Given the description of an element on the screen output the (x, y) to click on. 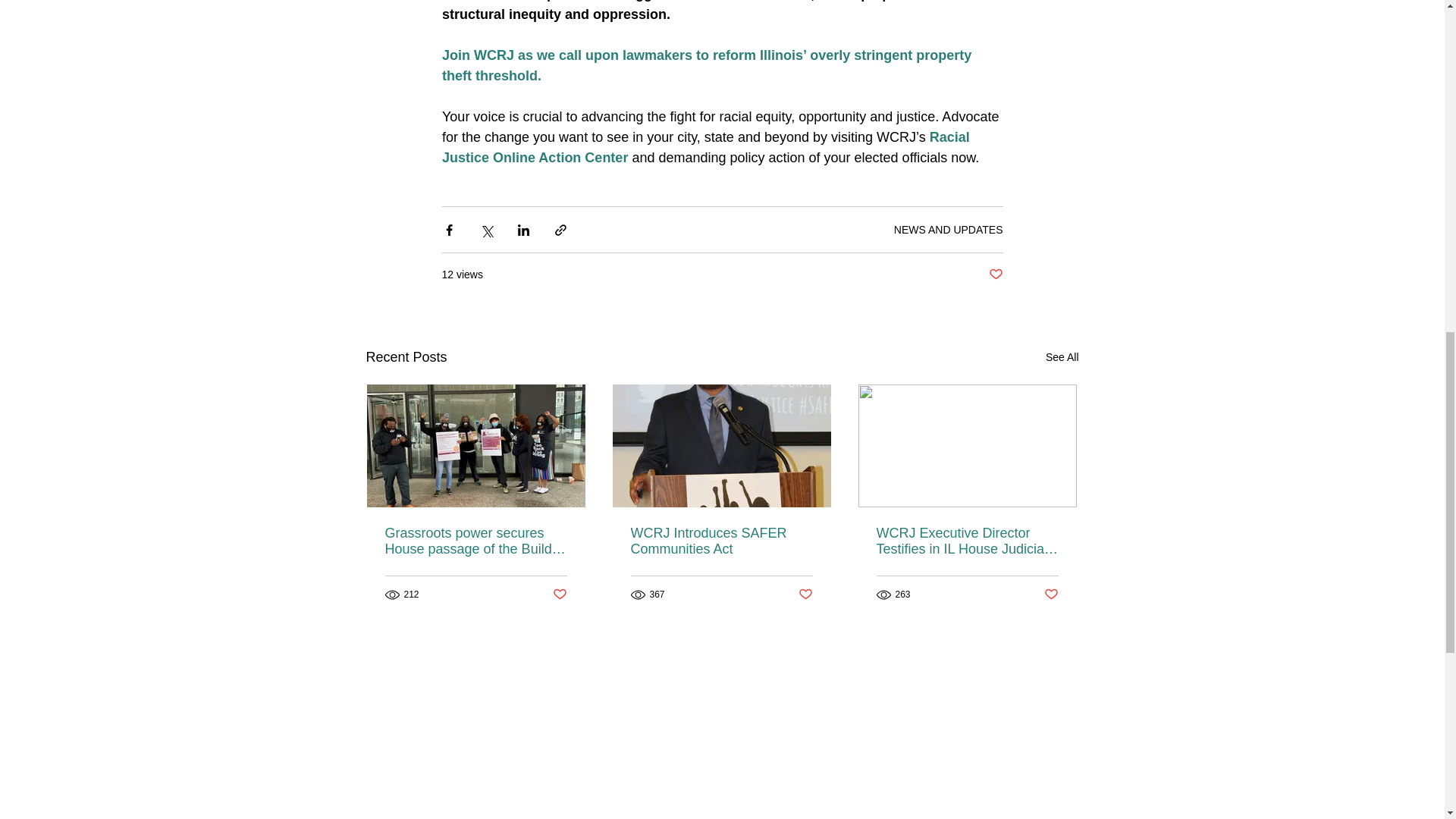
Post not marked as liked (804, 594)
Racial Justice Online Action Center (706, 147)
See All (1061, 357)
Post not marked as liked (995, 274)
Post not marked as liked (558, 594)
Post not marked as liked (1050, 594)
WCRJ Introduces SAFER Communities Act (721, 541)
NEWS AND UPDATES (948, 228)
